Given the description of an element on the screen output the (x, y) to click on. 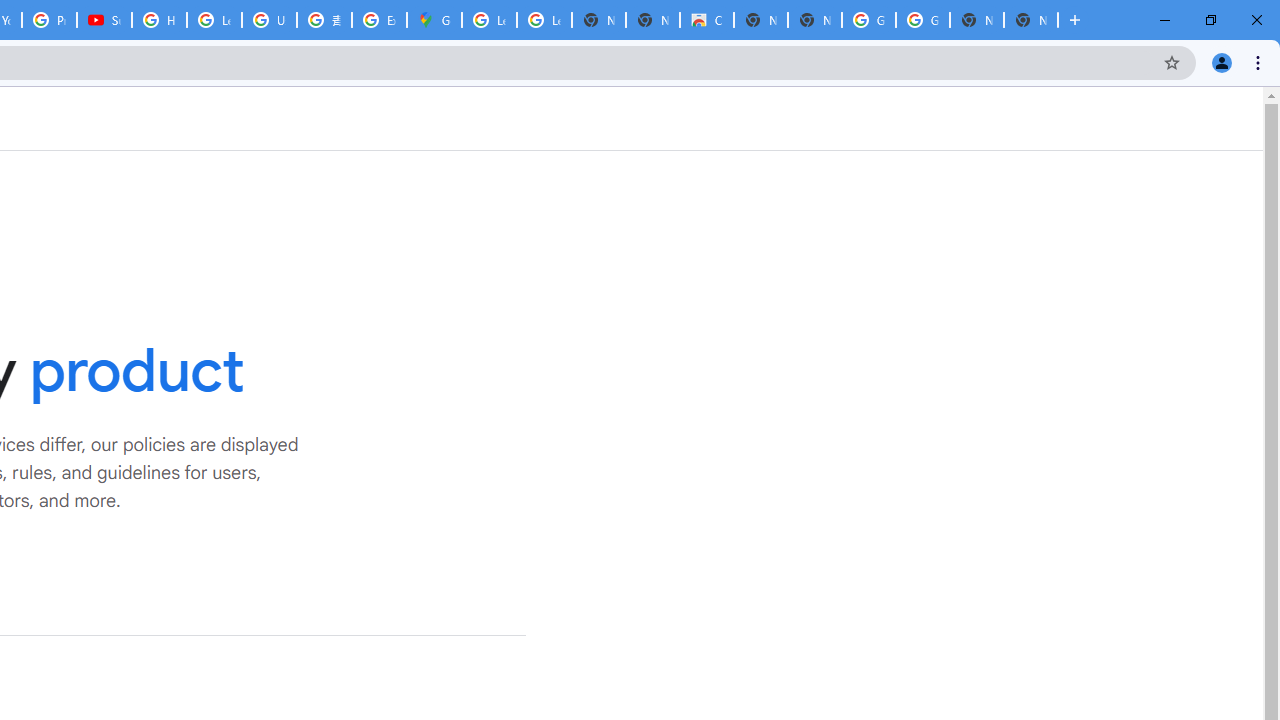
Google Images (868, 20)
Explore new street-level details - Google Maps Help (379, 20)
How Chrome protects your passwords - Google Chrome Help (158, 20)
Google Maps (434, 20)
Google Images (922, 20)
New Tab (1030, 20)
Chrome Web Store (706, 20)
